Given the description of an element on the screen output the (x, y) to click on. 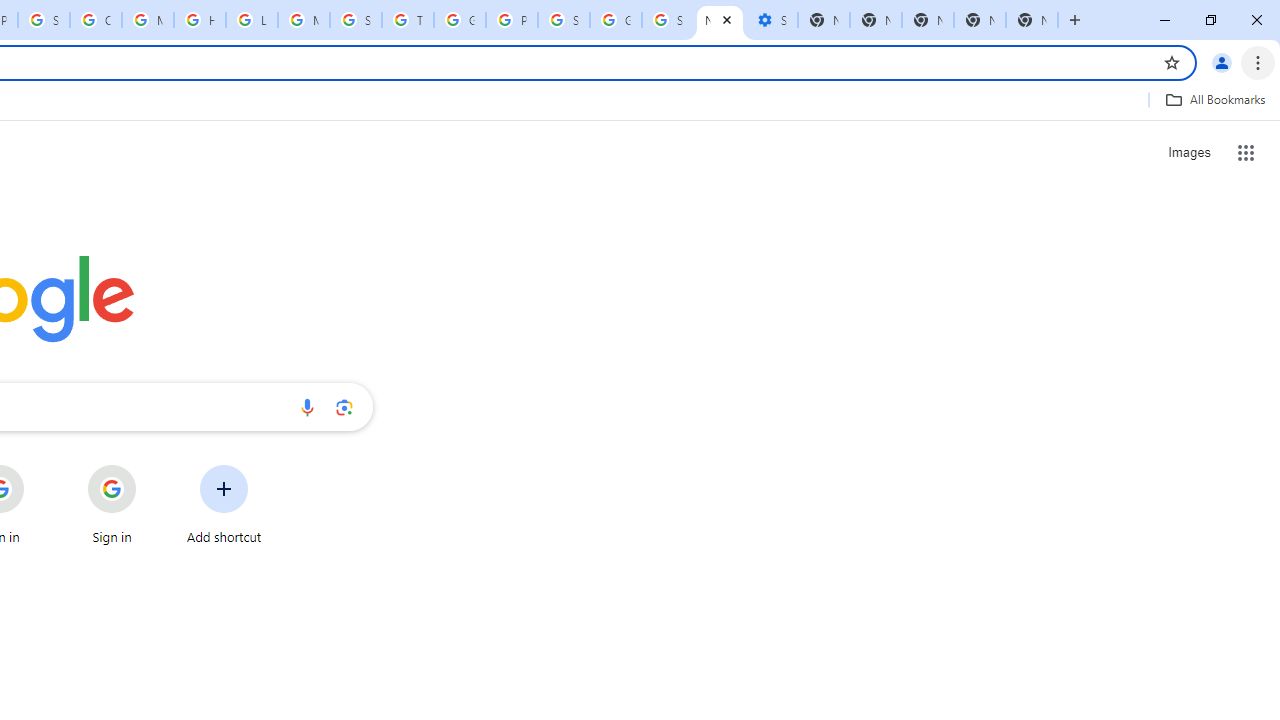
Trusted Information and Content - Google Safety Center (407, 20)
